Given the description of an element on the screen output the (x, y) to click on. 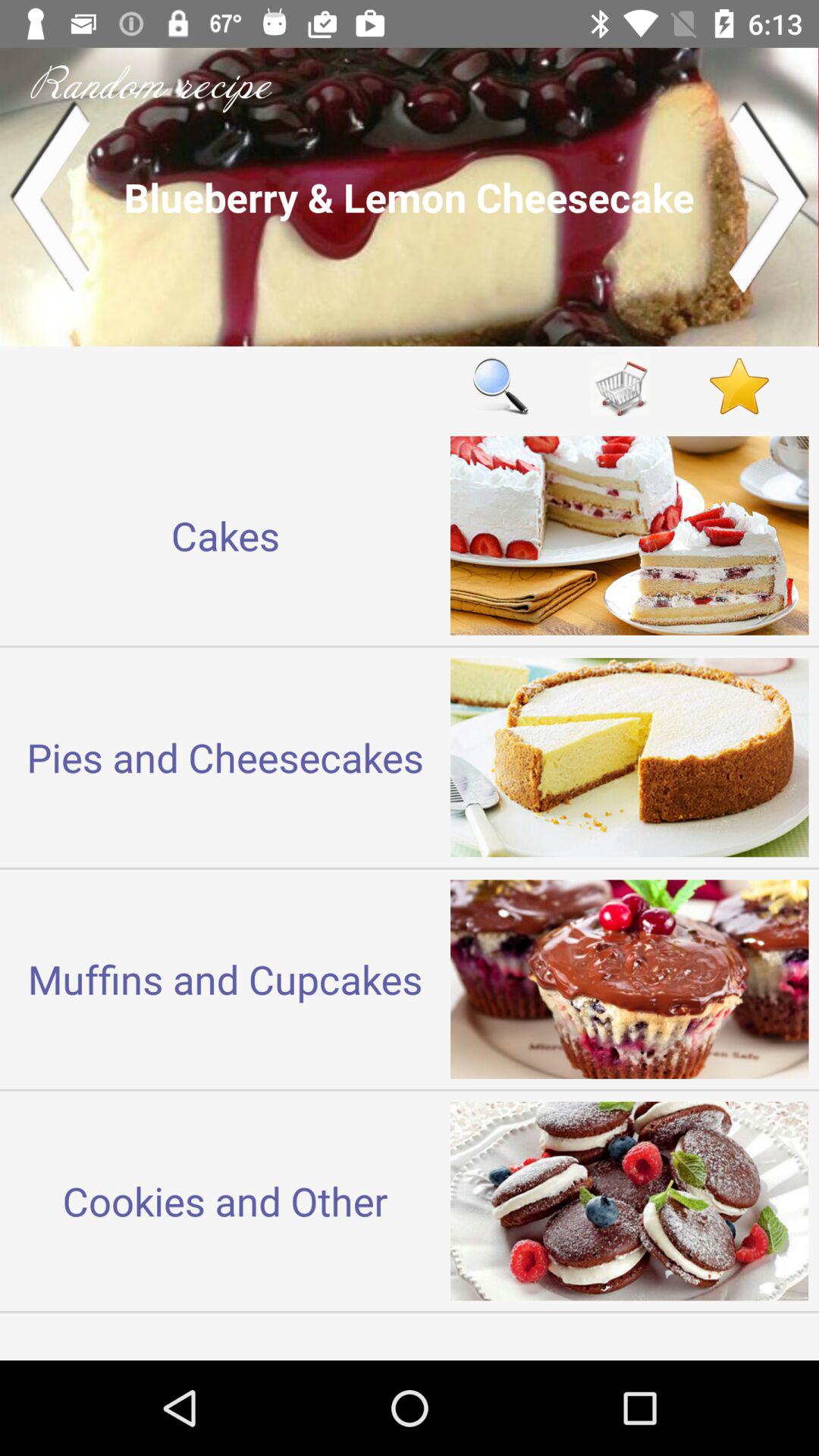
open item to the right of cakes item (500, 385)
